Given the description of an element on the screen output the (x, y) to click on. 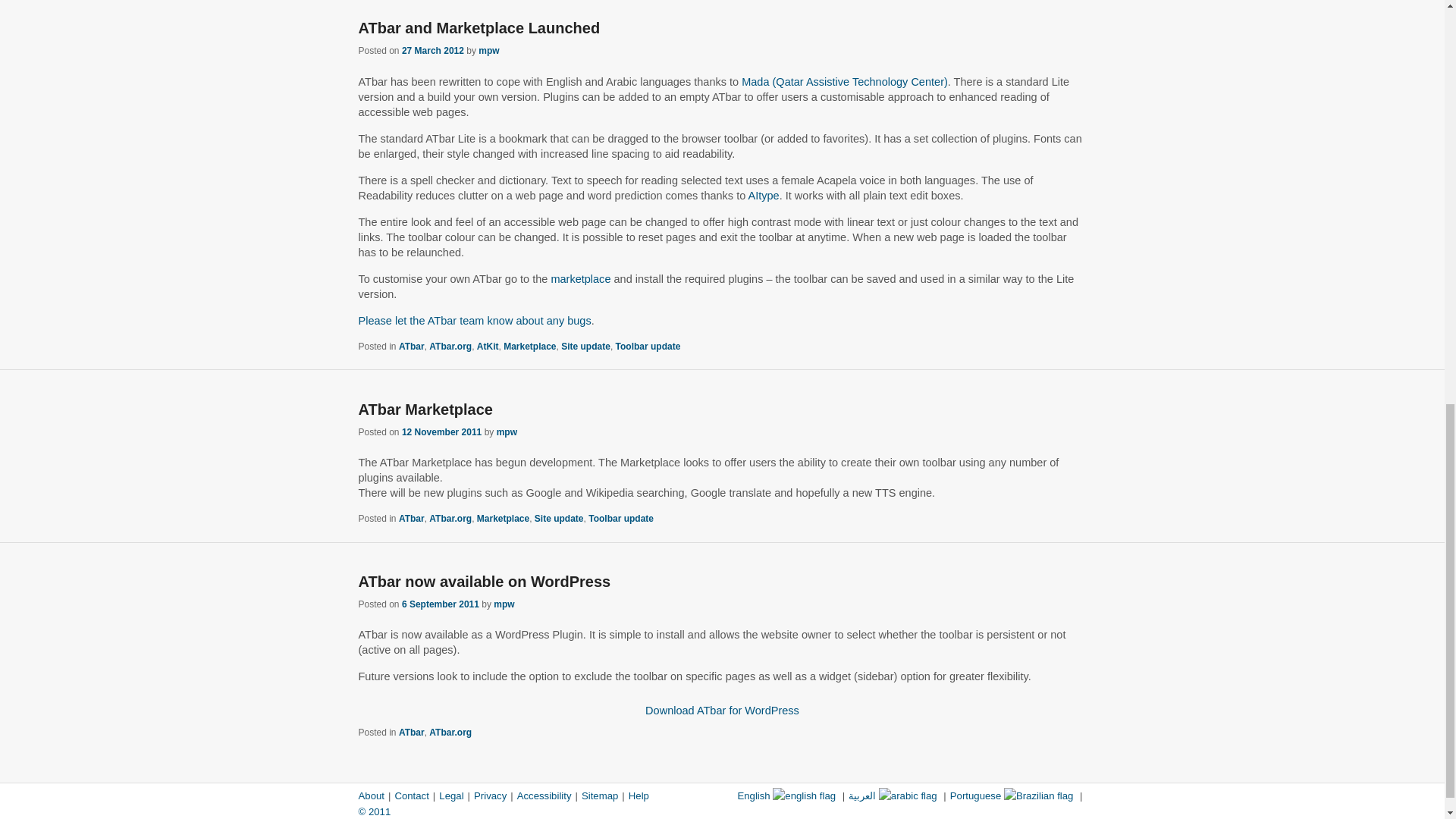
11:47 am (441, 431)
View all posts by mpw (506, 431)
4:02 pm (432, 50)
Permalink to ATbar Marketplace (425, 409)
View all posts by mpw (489, 50)
Permalink to ATbar and Marketplace Launched (478, 27)
